Given the description of an element on the screen output the (x, y) to click on. 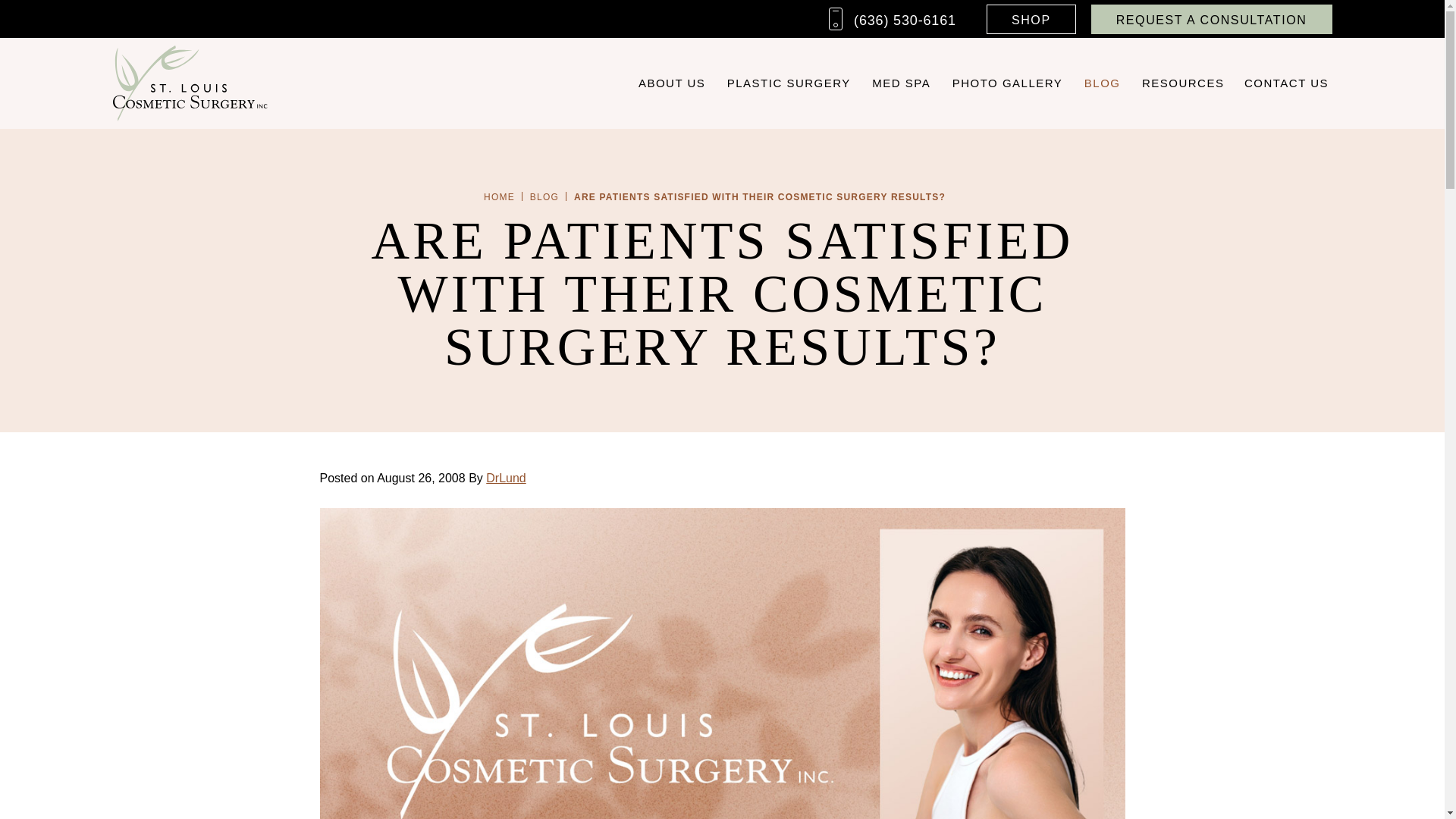
SHOP (1031, 19)
REQUEST A CONSULTATION (1211, 19)
View all posts by DrLund (505, 477)
Go to Blog. (544, 196)
PLASTIC SURGERY (788, 82)
